Given the description of an element on the screen output the (x, y) to click on. 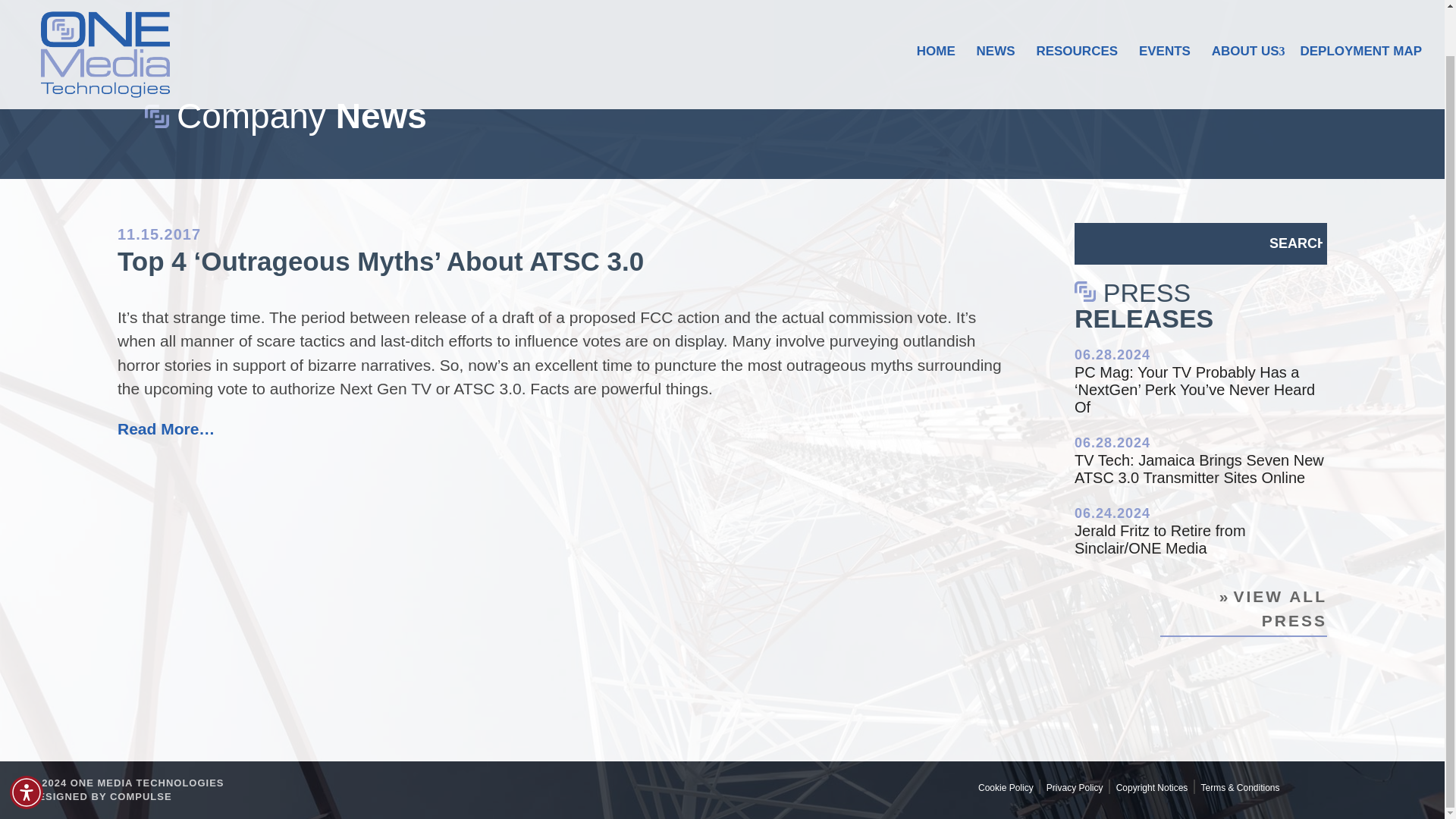
Solutions at your fingertips (140, 796)
DEPLOYMENT MAP (1361, 30)
Copyright Notices (1152, 787)
Accessibility Menu (26, 743)
RESOURCES (1076, 30)
ABOUT US (1245, 27)
VIEW ALL PRESS (1243, 610)
Search (1295, 243)
COMPULSE (140, 796)
Privacy Policy (1074, 787)
Cookie Policy (1005, 787)
Search (1295, 243)
